Given the description of an element on the screen output the (x, y) to click on. 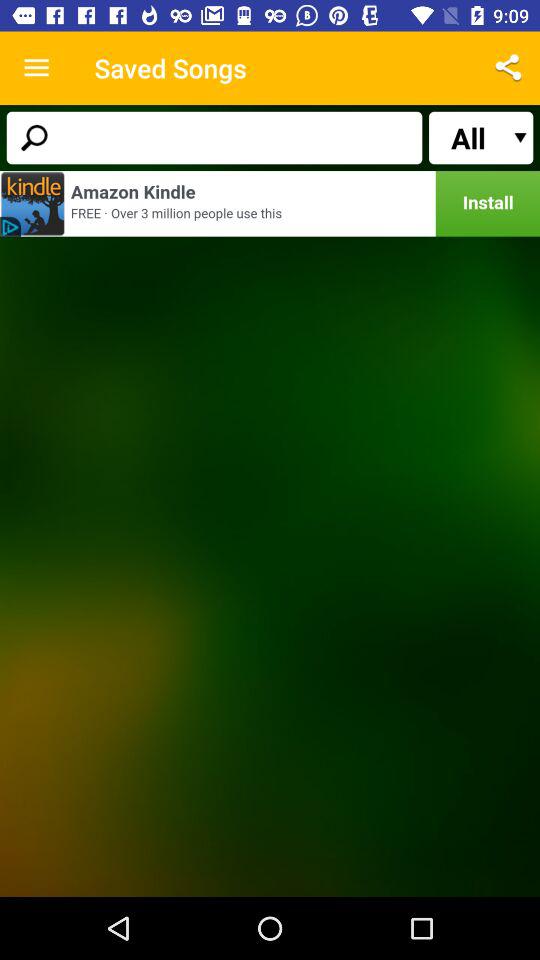
search bar (214, 137)
